Given the description of an element on the screen output the (x, y) to click on. 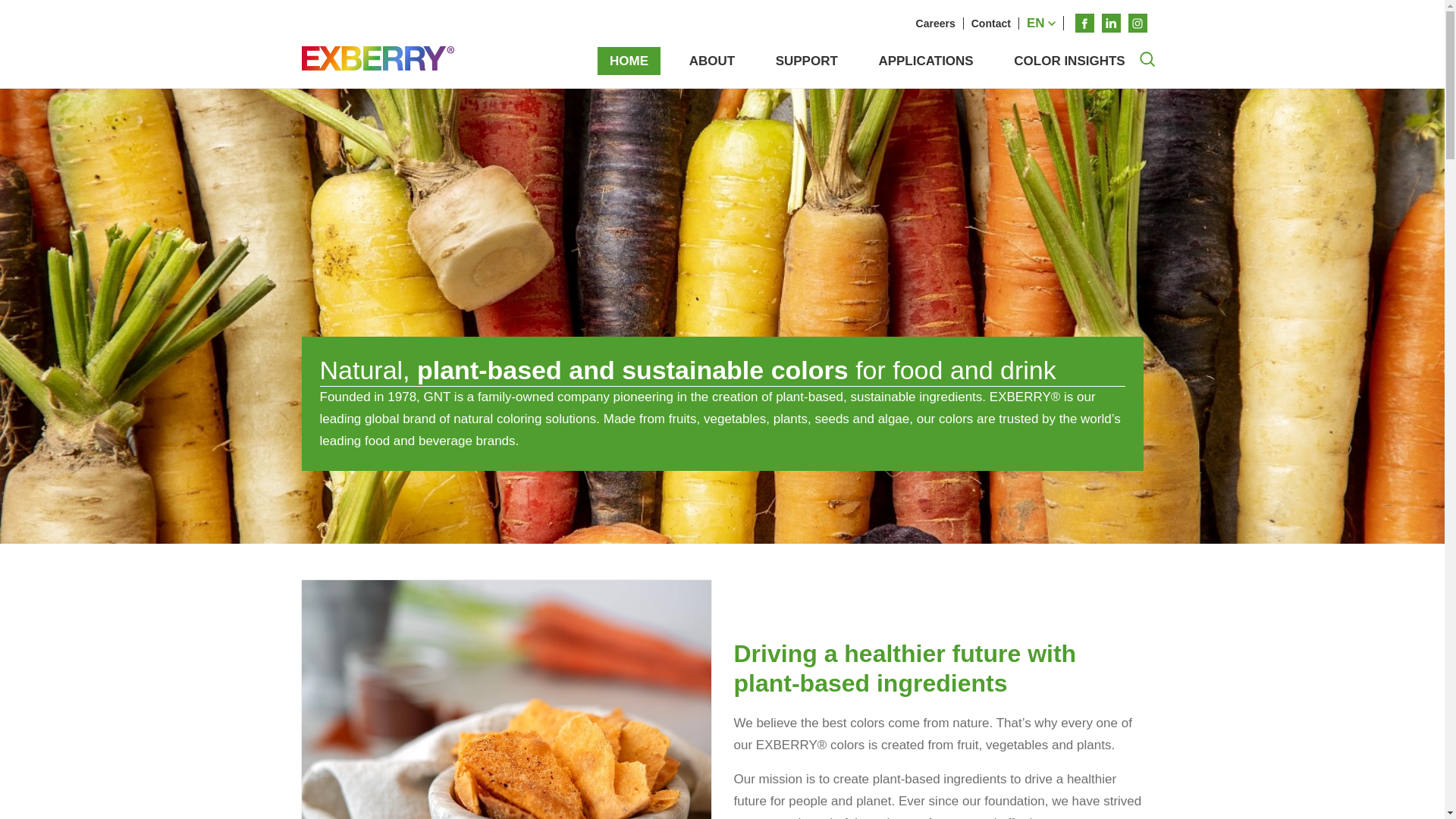
APPLICATIONS (925, 60)
Facebook (1084, 22)
Contact (991, 23)
COLOR INSIGHTS (1069, 60)
EN (1041, 22)
Instagram (1137, 22)
HOME (628, 60)
ABOUT (711, 60)
Careers (935, 23)
EN (1041, 22)
Linkedin (1109, 22)
SUPPORT (806, 60)
